Given the description of an element on the screen output the (x, y) to click on. 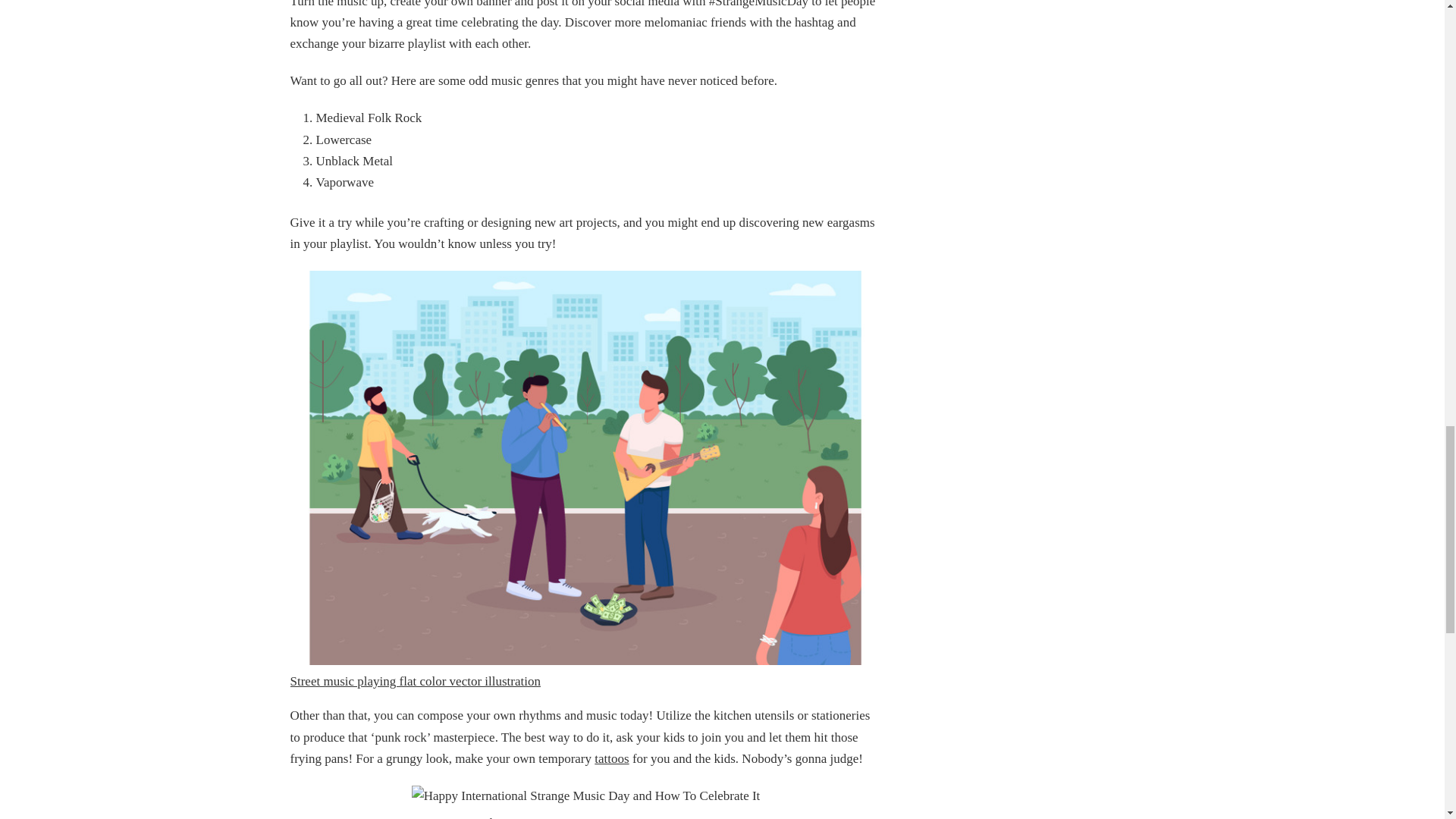
ctor illustration (500, 681)
Street music playing flat color v (372, 681)
tattoos (611, 758)
100 Music Stickers (461, 817)
